Given the description of an element on the screen output the (x, y) to click on. 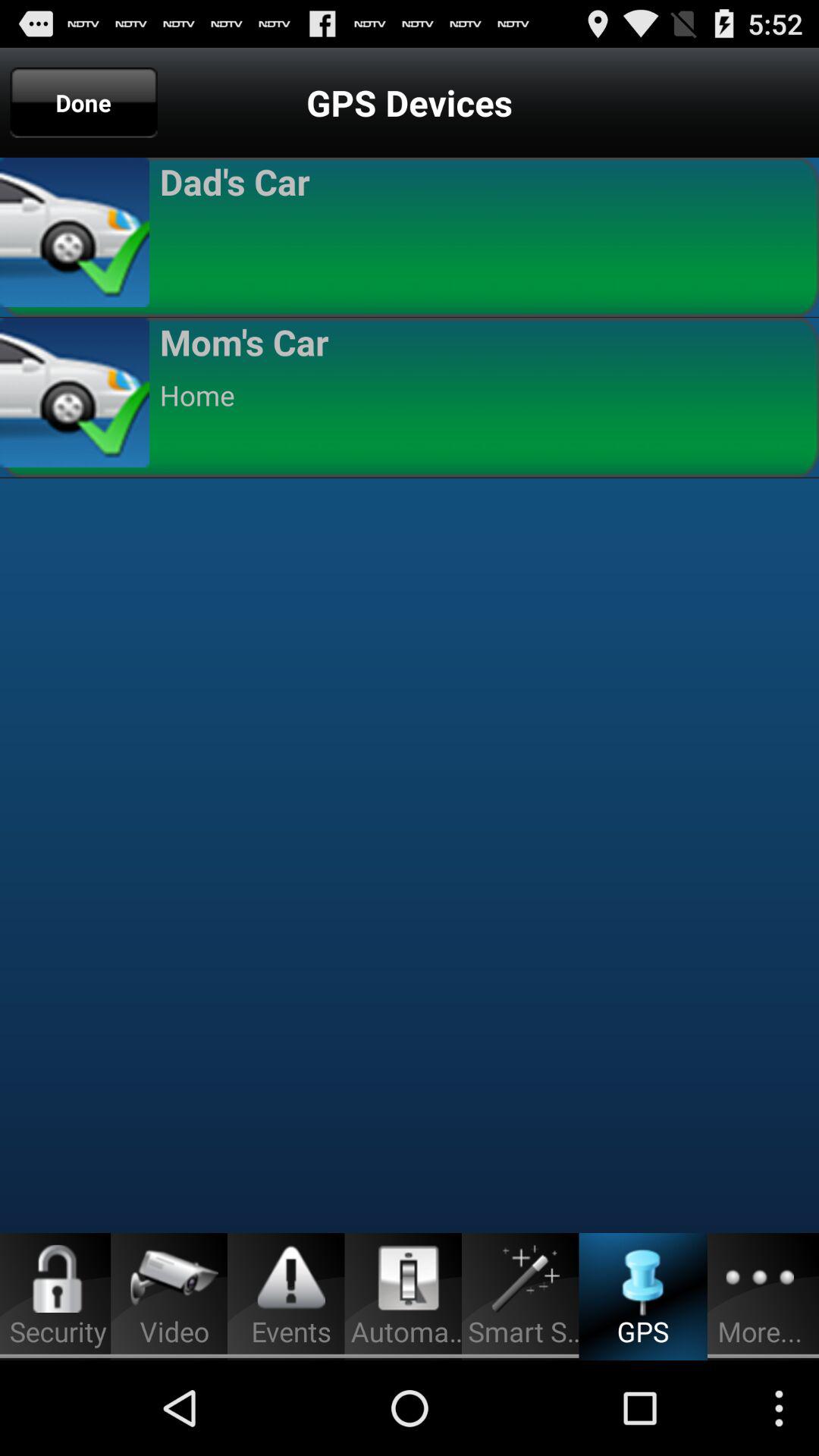
select the home app (481, 395)
